Given the description of an element on the screen output the (x, y) to click on. 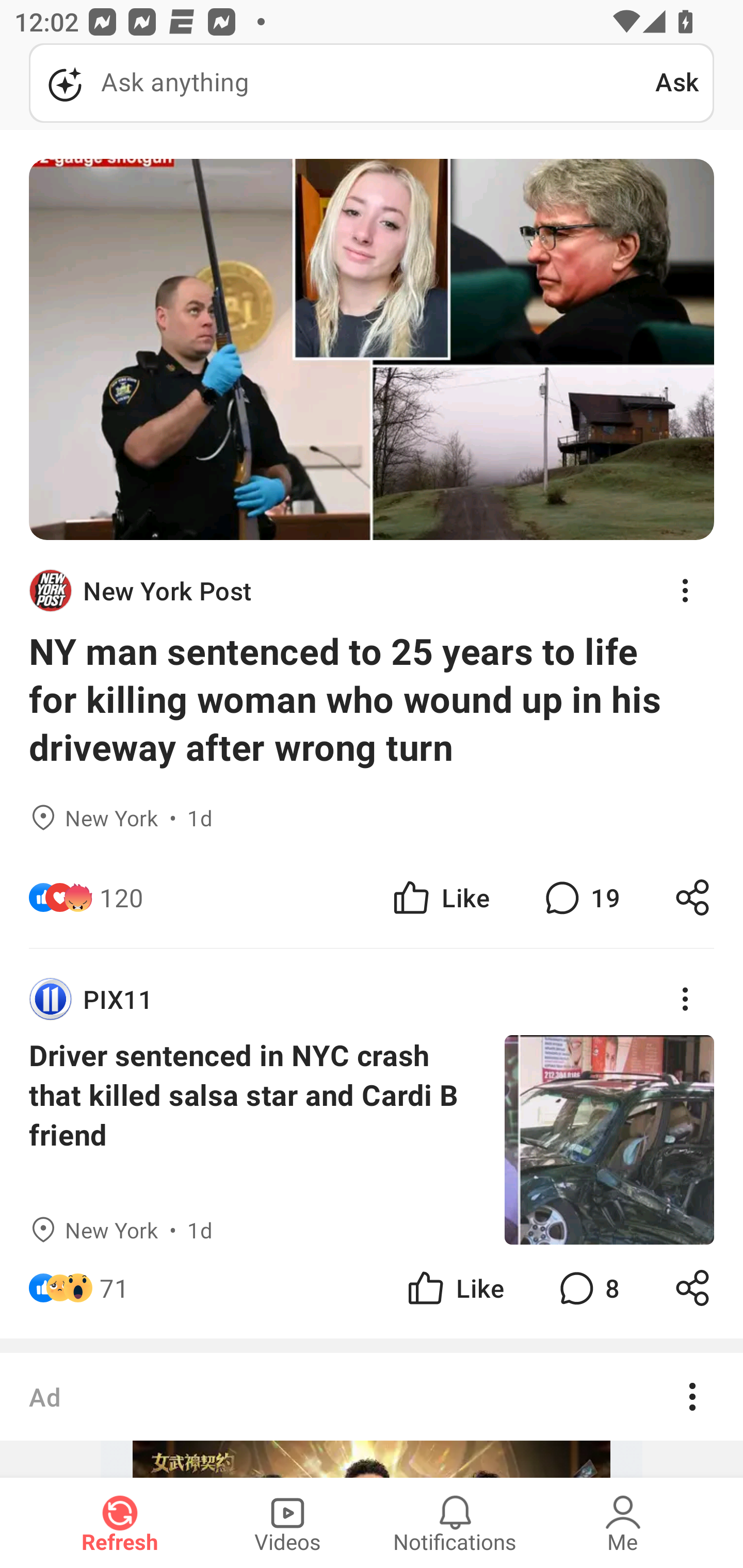
Ask anything (341, 82)
120 (121, 897)
Like (439, 897)
19 (579, 897)
71 (114, 1287)
Like (454, 1287)
8 (587, 1287)
Videos (287, 1522)
Notifications (455, 1522)
Me (622, 1522)
